Given the description of an element on the screen output the (x, y) to click on. 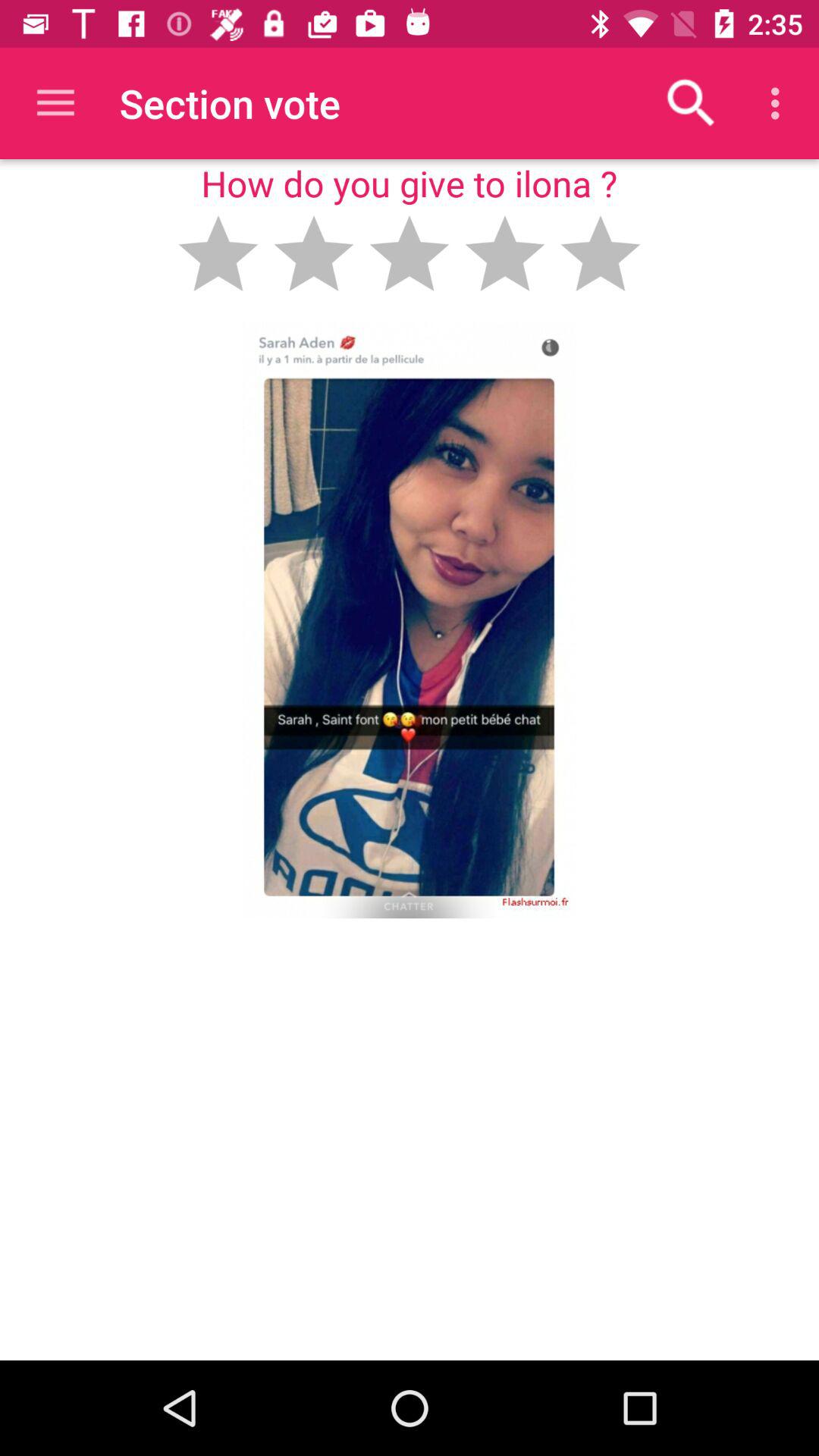
press the icon next to the section vote  app (55, 103)
